Given the description of an element on the screen output the (x, y) to click on. 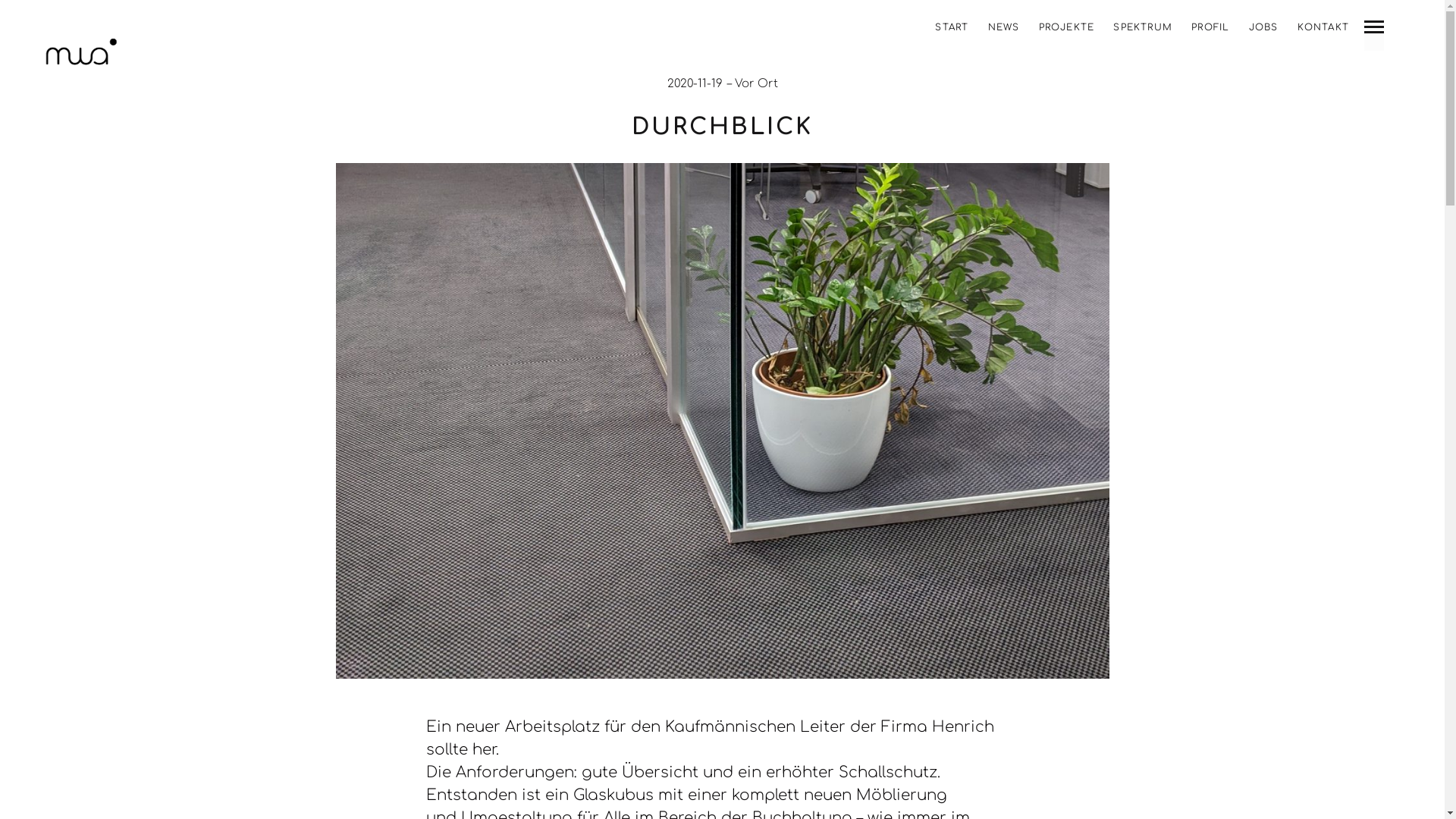
PROJEKTE Element type: text (1066, 27)
START Element type: text (951, 27)
NEWS Element type: text (1003, 27)
MWA Element type: hover (80, 54)
JOBS Element type: text (1263, 27)
SPEKTRUM Element type: text (1142, 27)
Vor Ort Element type: text (755, 83)
KONTAKT Element type: text (1322, 27)
PROFIL Element type: text (1209, 27)
